Given the description of an element on the screen output the (x, y) to click on. 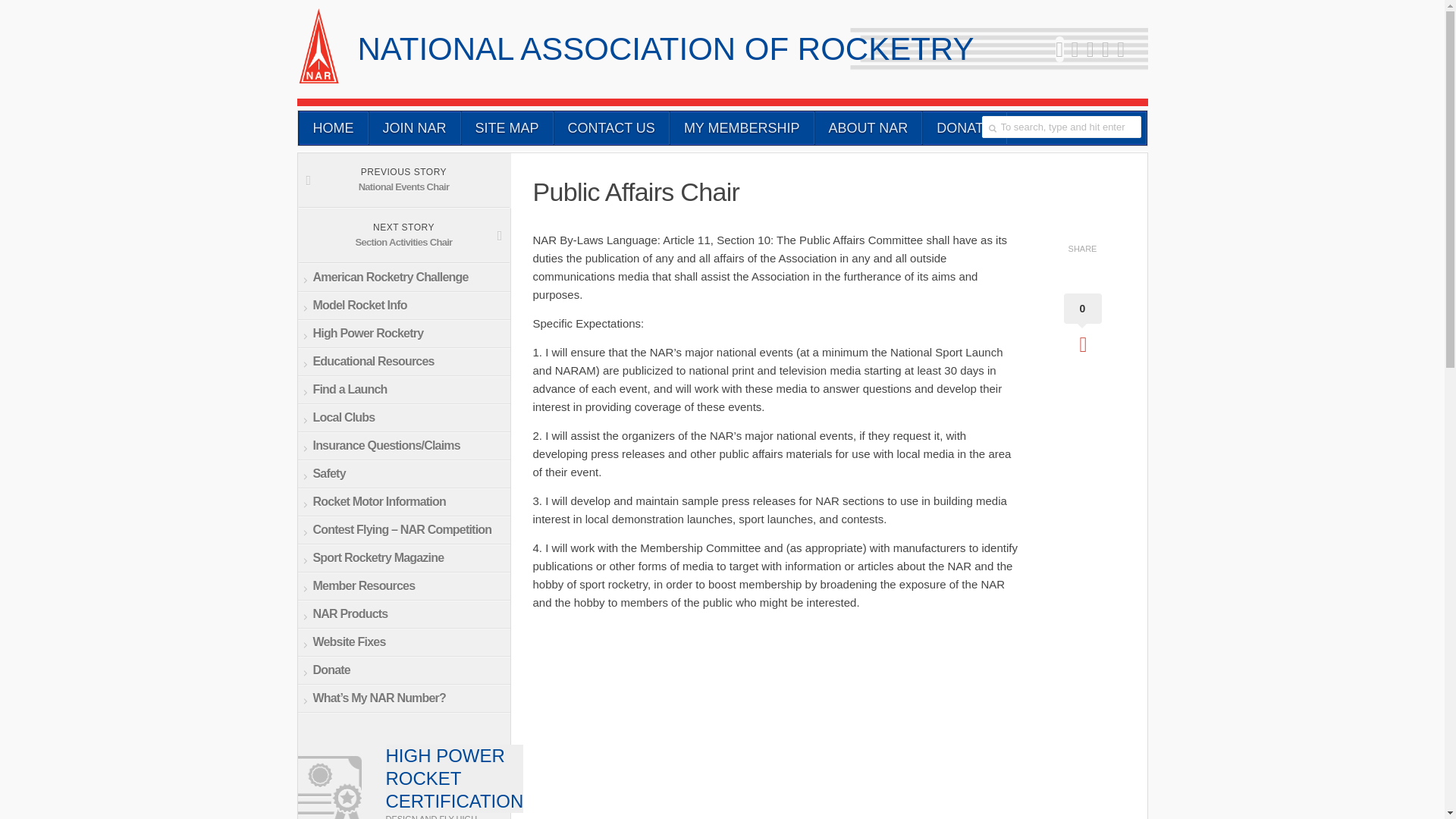
Newsletter Signup (1074, 49)
YouTube (403, 235)
High Power Rocketry (1120, 49)
DONATE (403, 334)
CONTACT US (964, 127)
MY MEMBERSHIP (611, 127)
ABOUT NAR (741, 127)
Facebook (868, 127)
Twitter (1058, 49)
Model Rocket Info (1105, 49)
SITE MAP (403, 305)
0 (507, 127)
HOME (1081, 323)
JOIN NAR (332, 127)
